Given the description of an element on the screen output the (x, y) to click on. 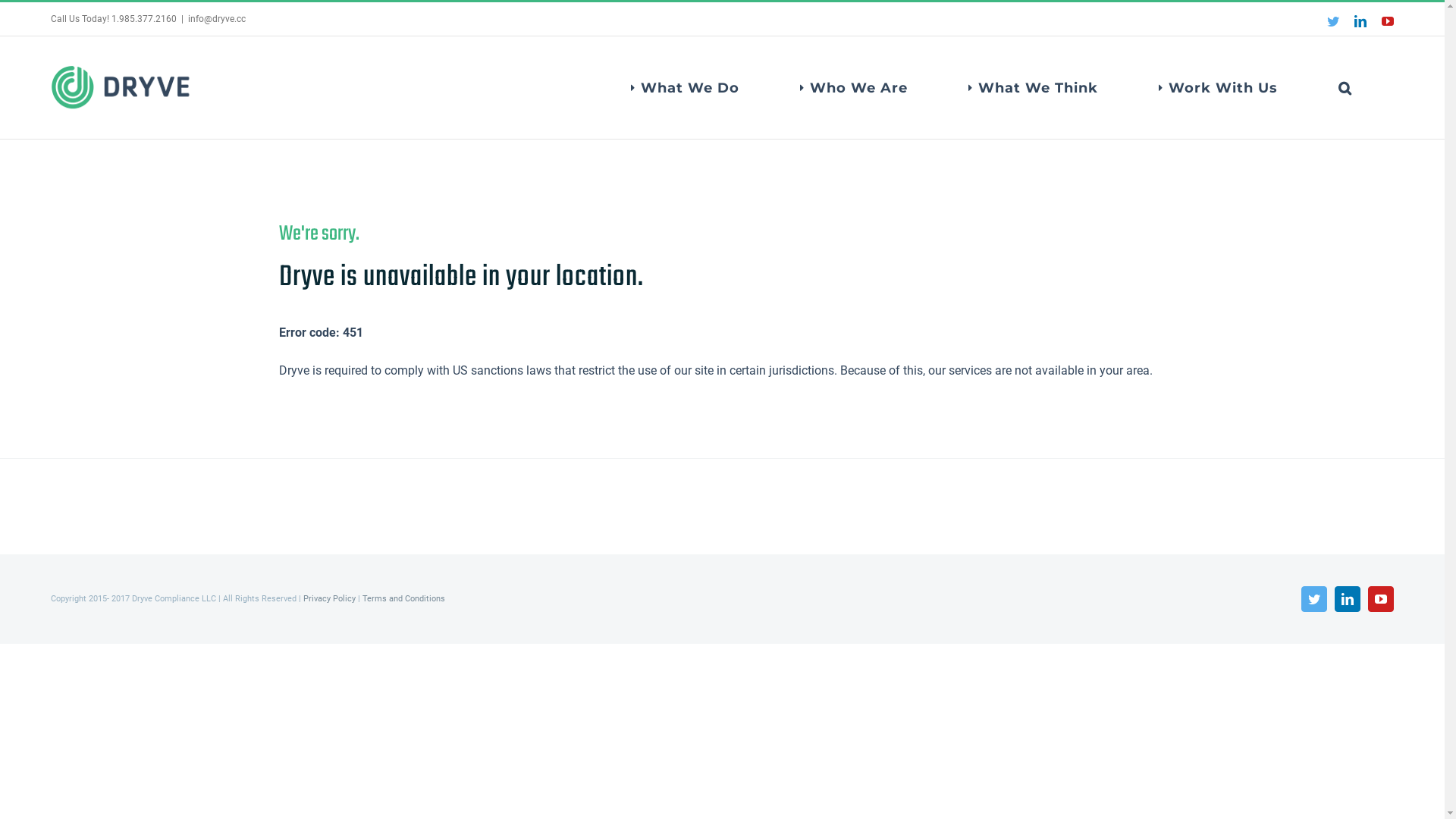
What We Think Element type: text (1033, 87)
info@dryve.cc Element type: text (216, 18)
YouTube Element type: text (1387, 21)
Search Element type: hover (1345, 87)
Who We Are Element type: text (853, 87)
Twitter Element type: text (1314, 598)
LinkedIn Element type: text (1360, 21)
YouTube Element type: text (1380, 598)
Work With Us Element type: text (1217, 87)
Privacy Policy Element type: text (329, 598)
Terms and Conditions Element type: text (403, 598)
Twitter Element type: text (1333, 21)
What We Do Element type: text (684, 87)
LinkedIn Element type: text (1347, 598)
